Given the description of an element on the screen output the (x, y) to click on. 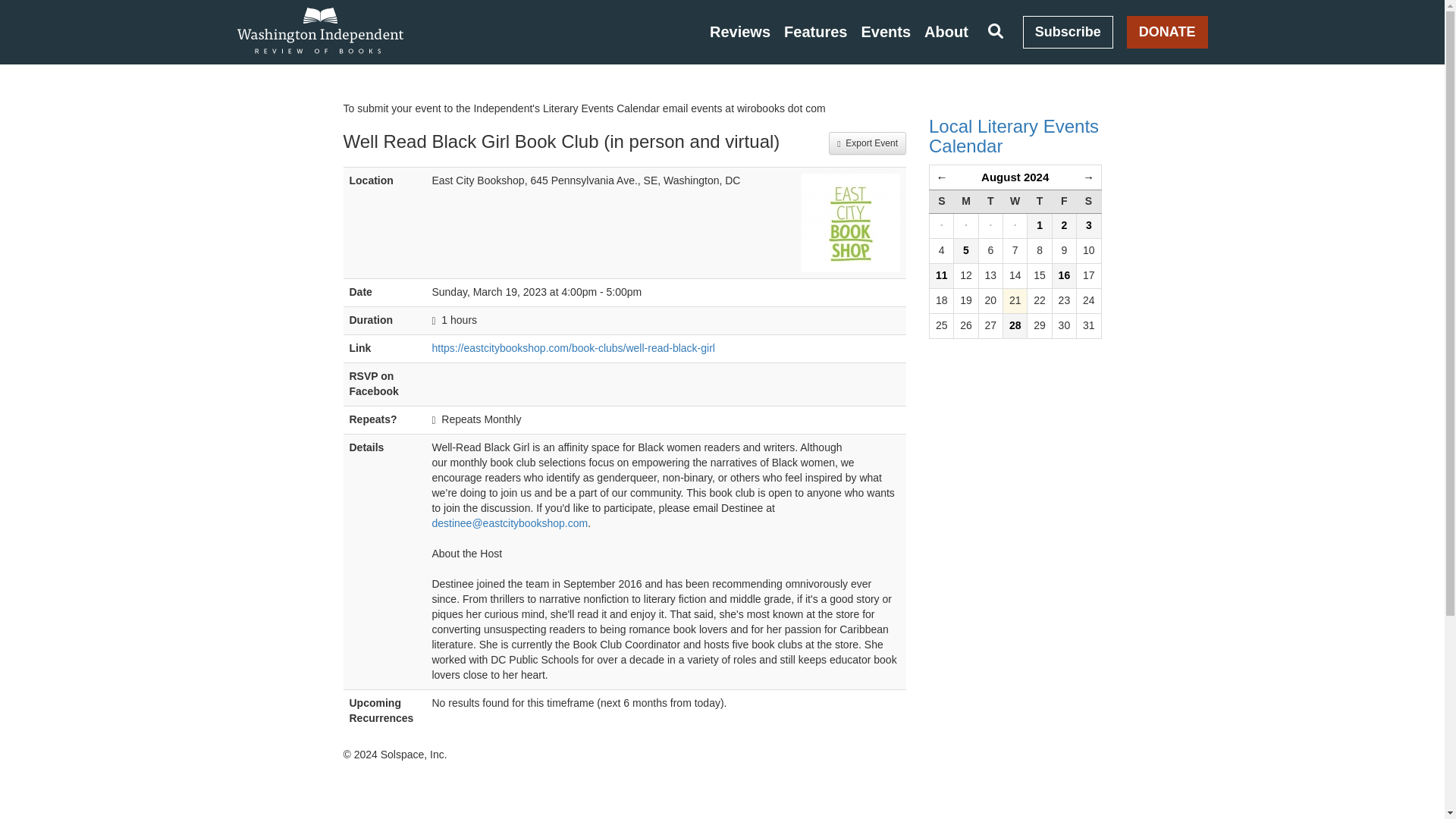
3 (1088, 225)
Events (885, 31)
2 (1063, 225)
16 (1063, 275)
August 2024 (1014, 176)
About (946, 31)
Local Literary Events Calendar (1015, 137)
  Export Event (866, 142)
1 (1039, 225)
Features (815, 31)
